Given the description of an element on the screen output the (x, y) to click on. 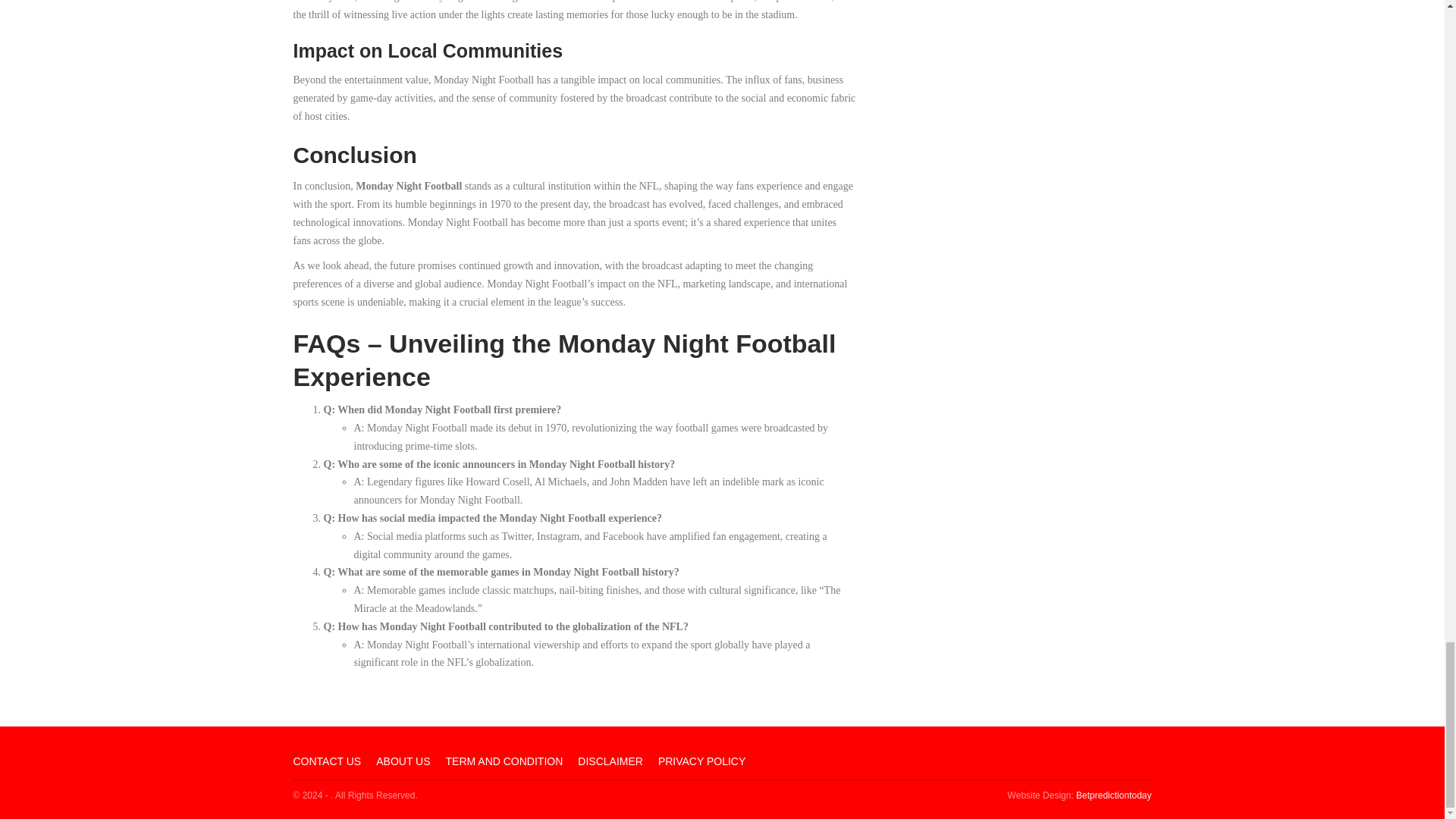
CONTACT US (326, 761)
ABOUT US (402, 761)
DISCLAIMER (610, 761)
PRIVACY POLICY (701, 761)
TERM AND CONDITION (504, 761)
